Given the description of an element on the screen output the (x, y) to click on. 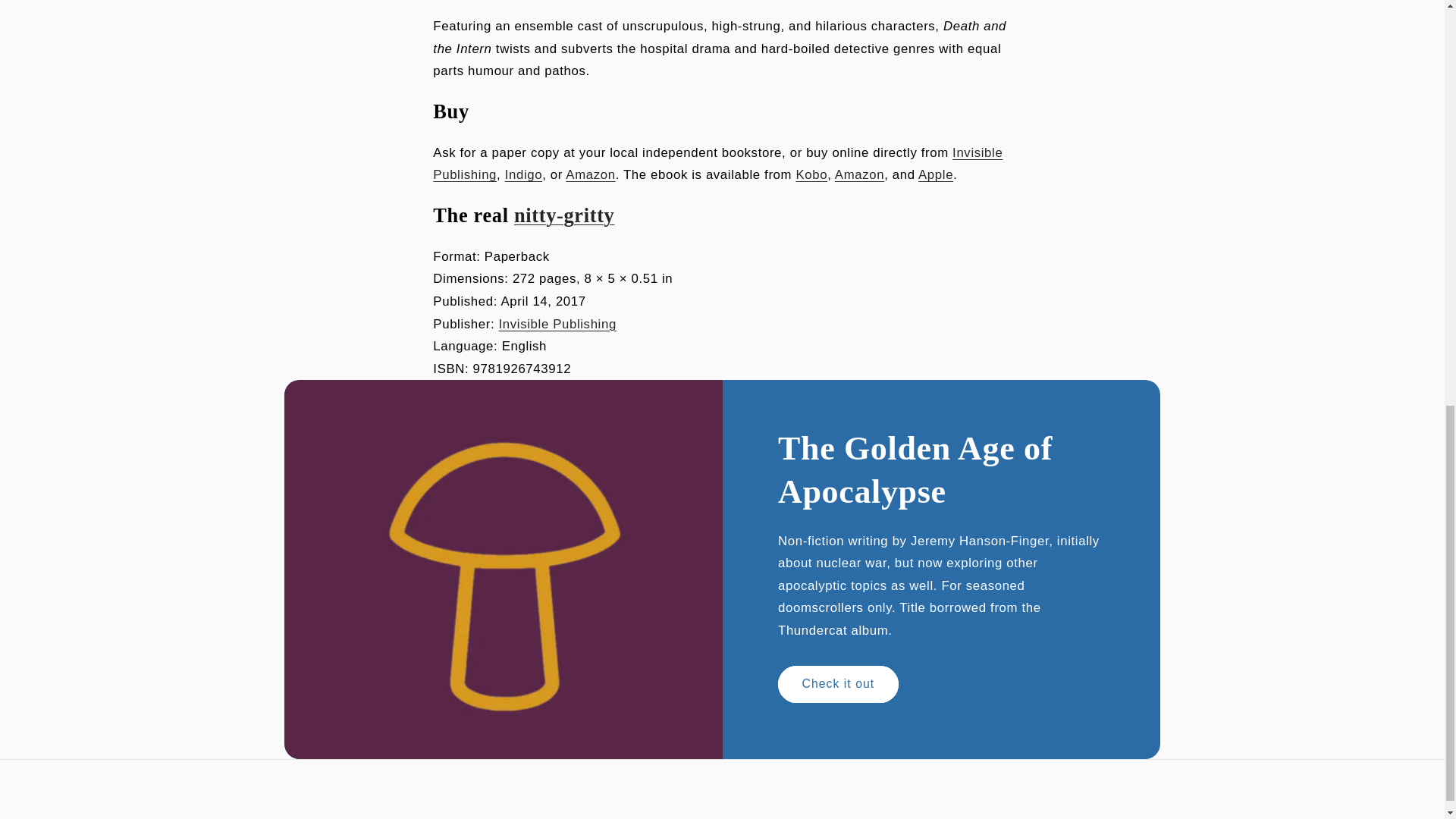
nitty-gritty (563, 214)
Death and the Intern at Kobo (810, 174)
Indigo (524, 174)
Check it out (837, 683)
Buy Kindle edition of Death and the Intern (858, 174)
Kobo (810, 174)
Amazon (590, 174)
Apple (935, 174)
Invisible Publishing (557, 323)
Invisible Publishing (717, 163)
